Given the description of an element on the screen output the (x, y) to click on. 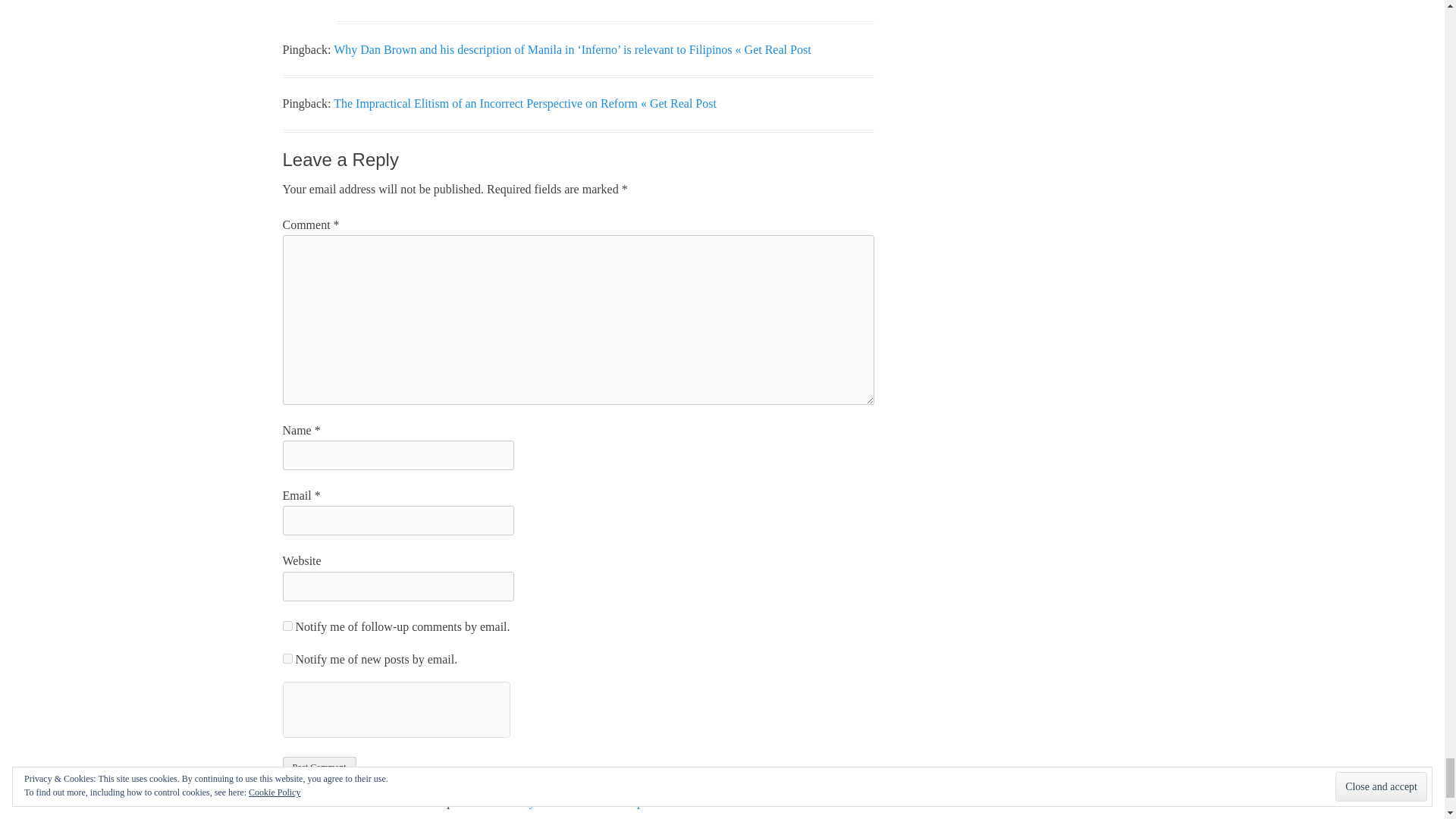
subscribe (287, 658)
Post Comment (318, 766)
subscribe (287, 625)
